Given the description of an element on the screen output the (x, y) to click on. 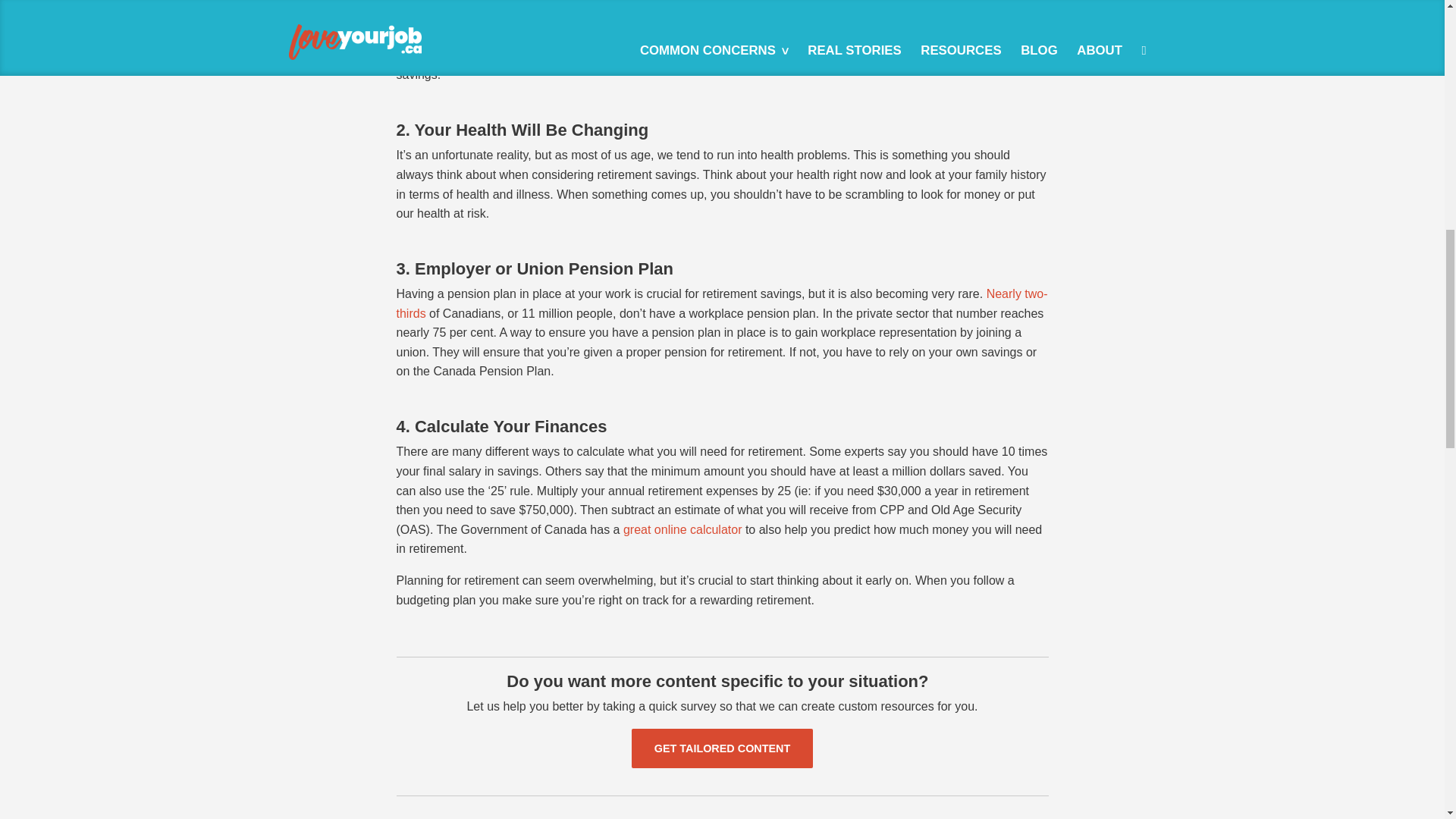
Nearly two-thirds (721, 303)
great online calculator (682, 529)
GET TAILORED CONTENT (721, 748)
